Given the description of an element on the screen output the (x, y) to click on. 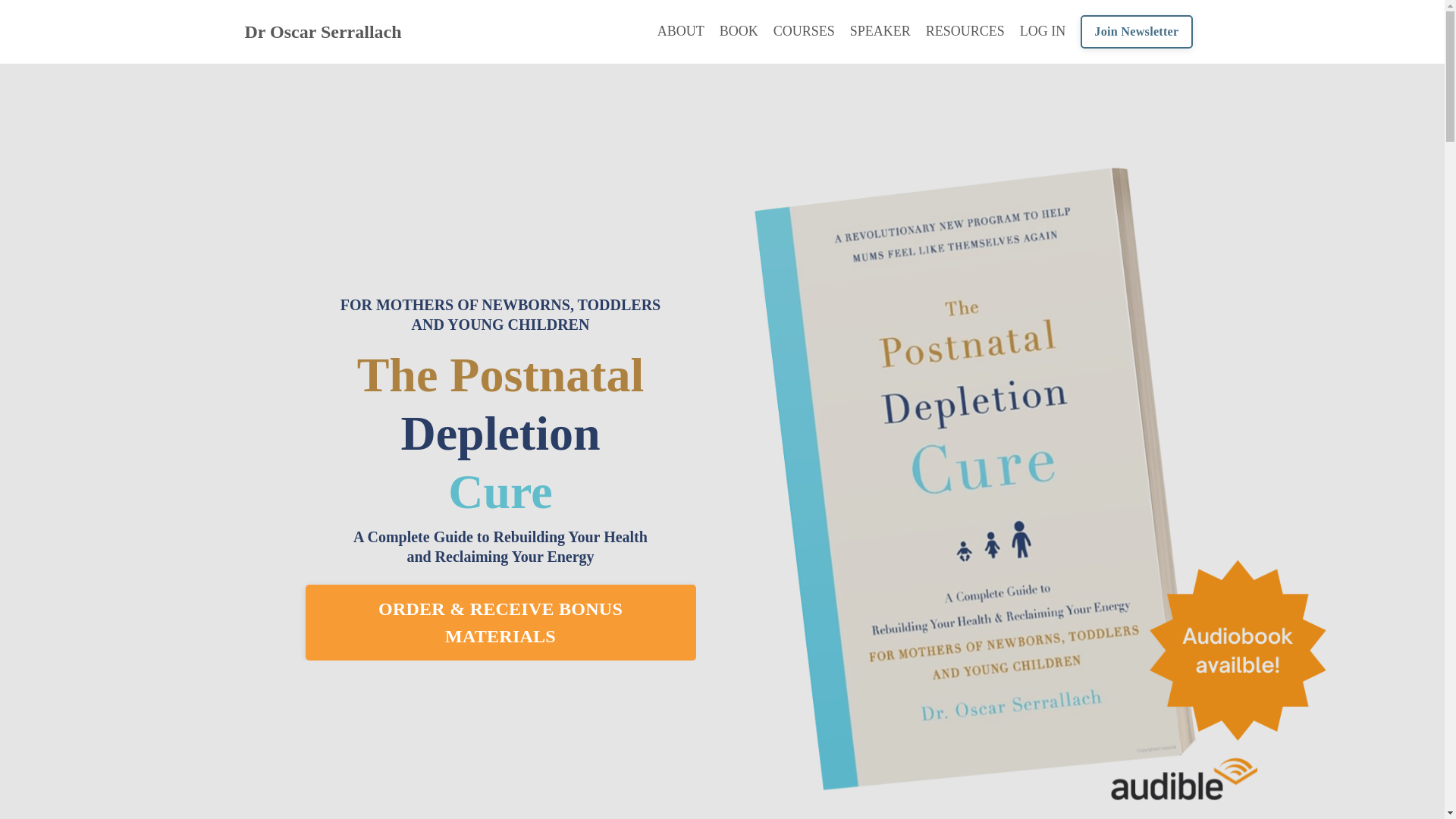
Join Newsletter (1136, 31)
COURSES (803, 31)
BOOK (738, 31)
LOG IN (1042, 30)
SPEAKER (880, 31)
Dr Oscar Serrallach (322, 31)
ABOUT (681, 31)
RESOURCES (965, 31)
